Given the description of an element on the screen output the (x, y) to click on. 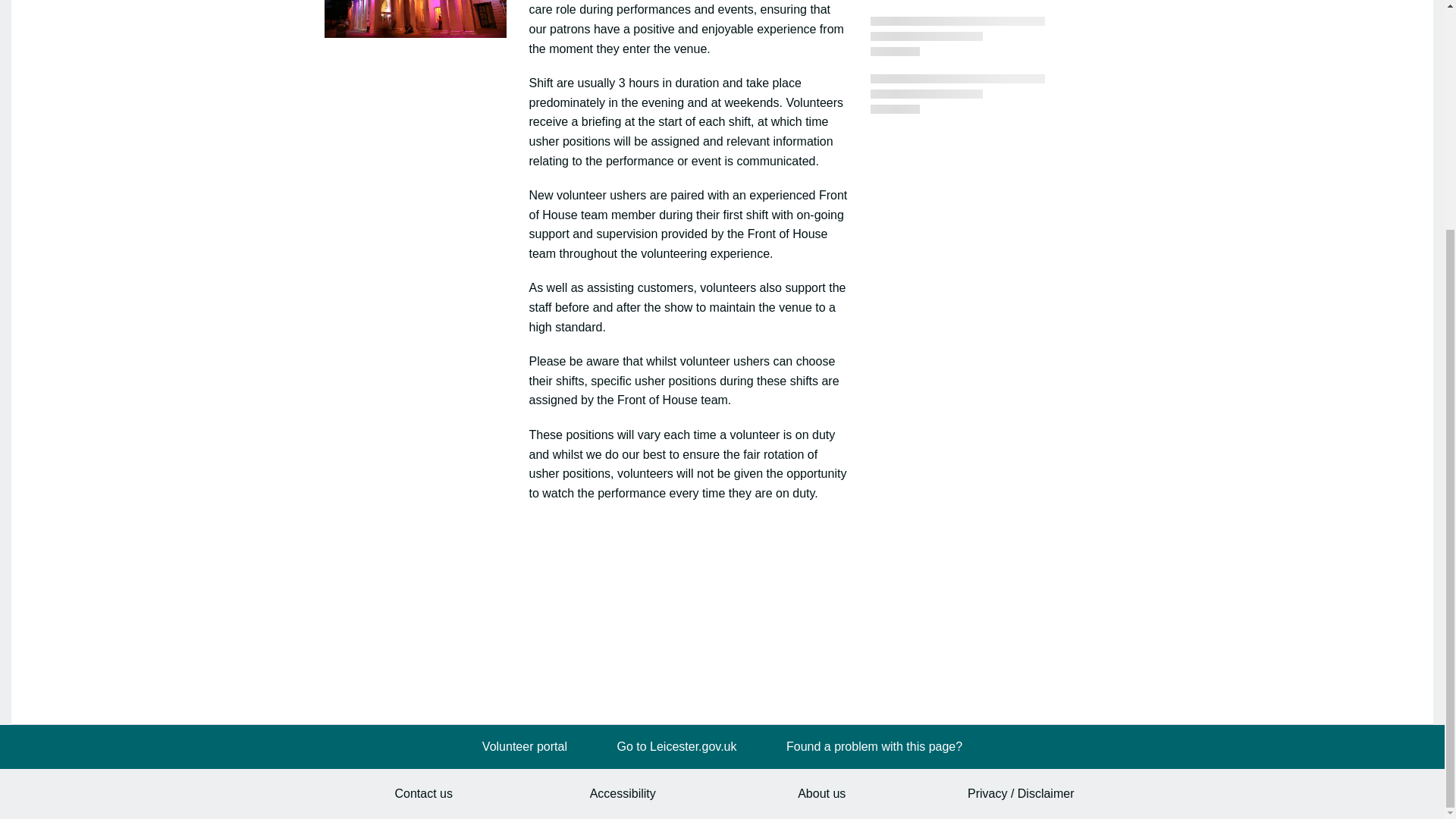
Go to Leicester.gov.uk (675, 746)
Found a problem with this page? (874, 746)
Accessibility (622, 793)
About us (821, 793)
Contact us (422, 793)
Volunteer portal (524, 746)
